Given the description of an element on the screen output the (x, y) to click on. 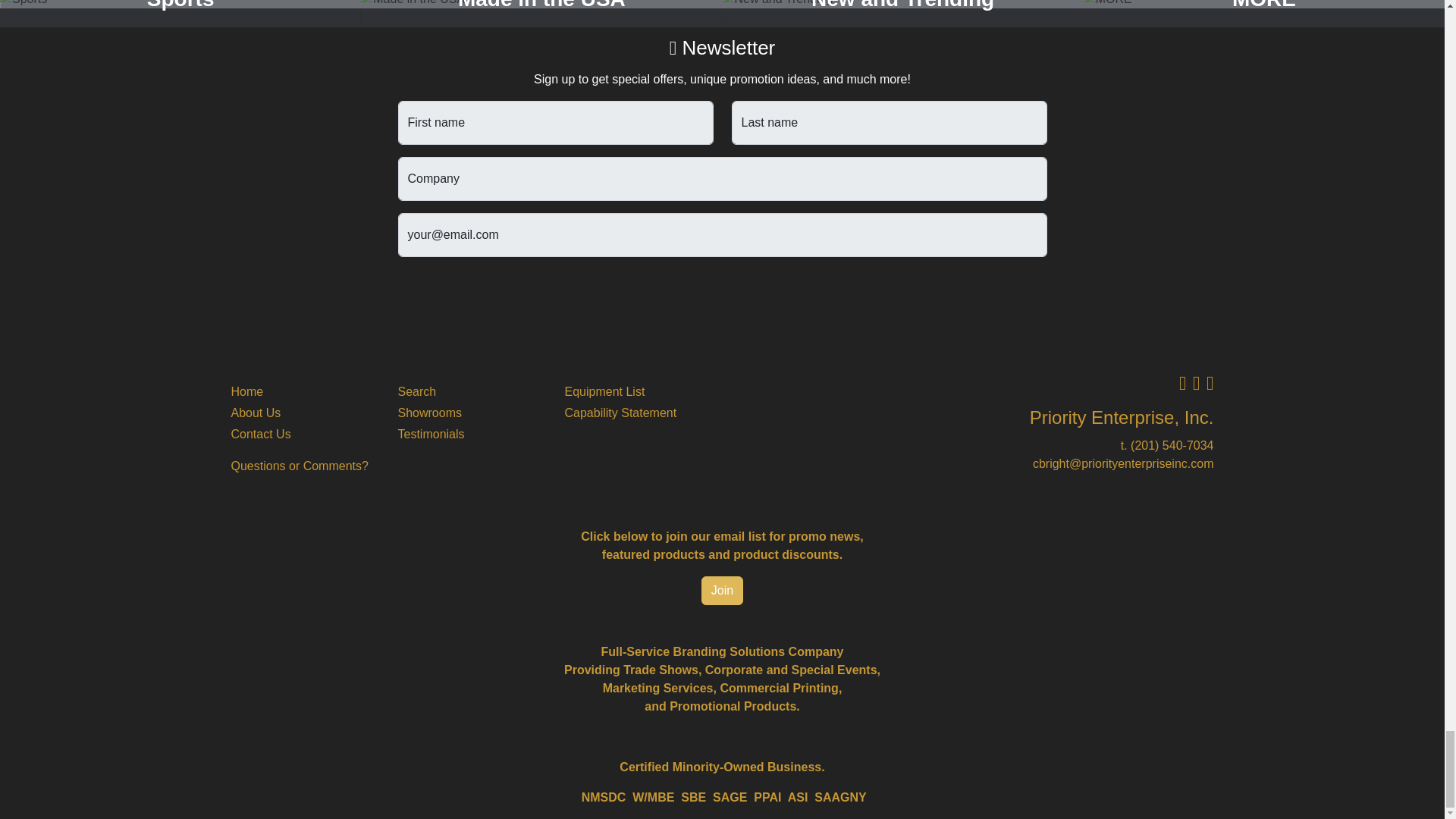
Subscribe (721, 283)
Sports (180, 4)
New and Trending (902, 4)
Made in the USA (541, 4)
